Given the description of an element on the screen output the (x, y) to click on. 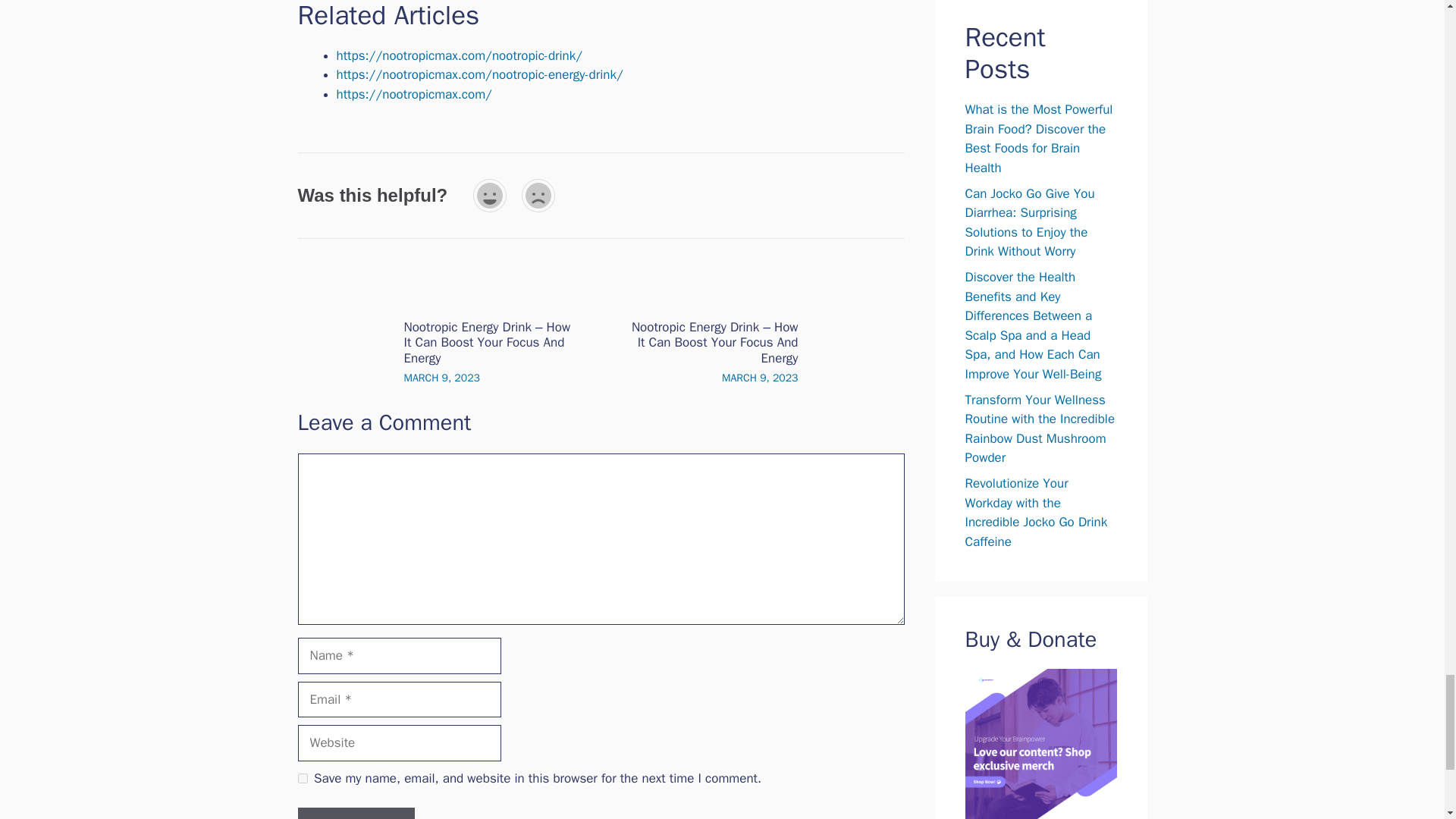
Post Comment (355, 813)
yes (302, 777)
Post Comment (355, 813)
